Given the description of an element on the screen output the (x, y) to click on. 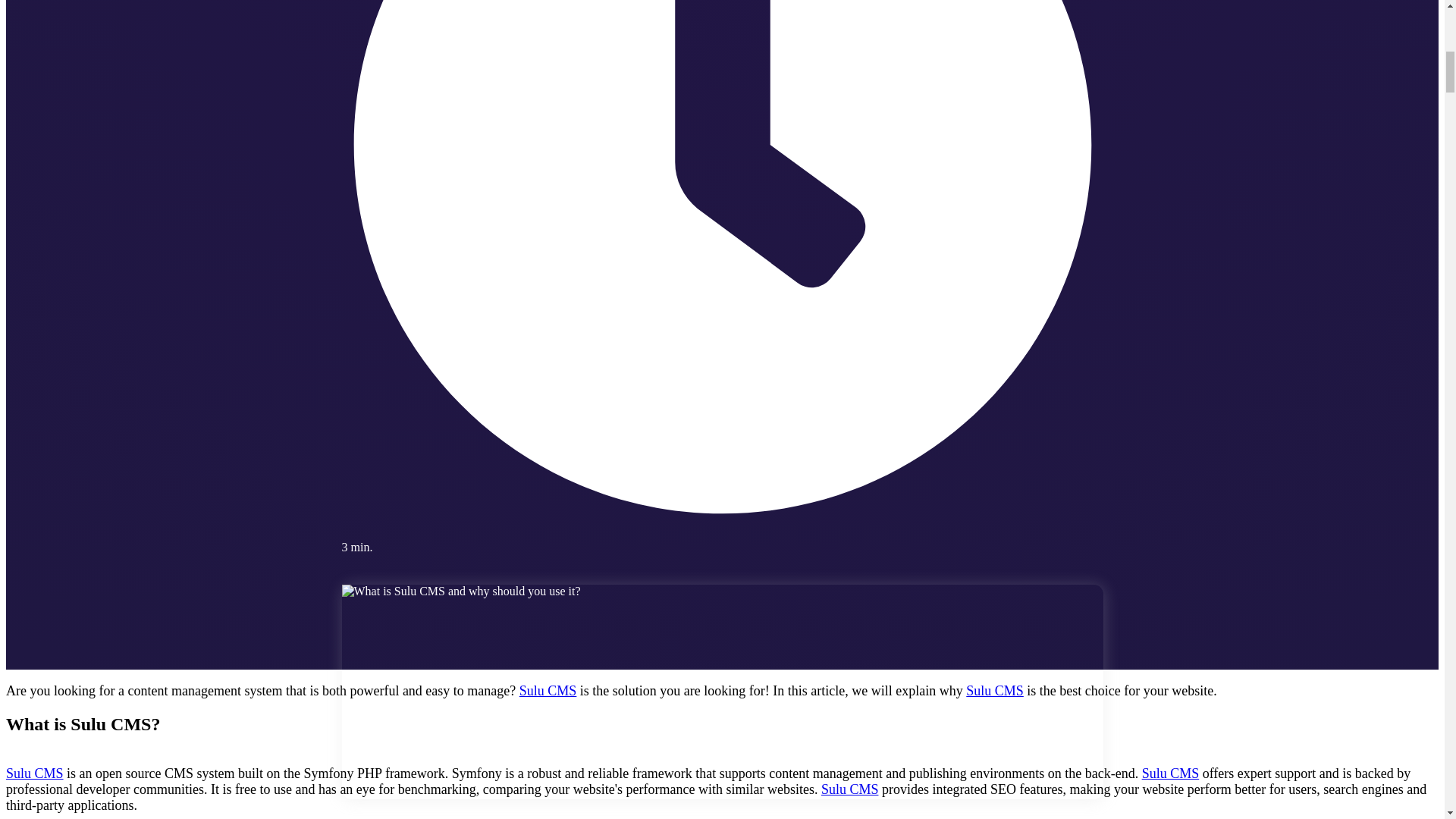
Sulu CMS (994, 690)
Sulu CMS (1170, 773)
Sulu CMS (34, 773)
Sulu CMS (547, 690)
Sulu CMS (850, 789)
